Given the description of an element on the screen output the (x, y) to click on. 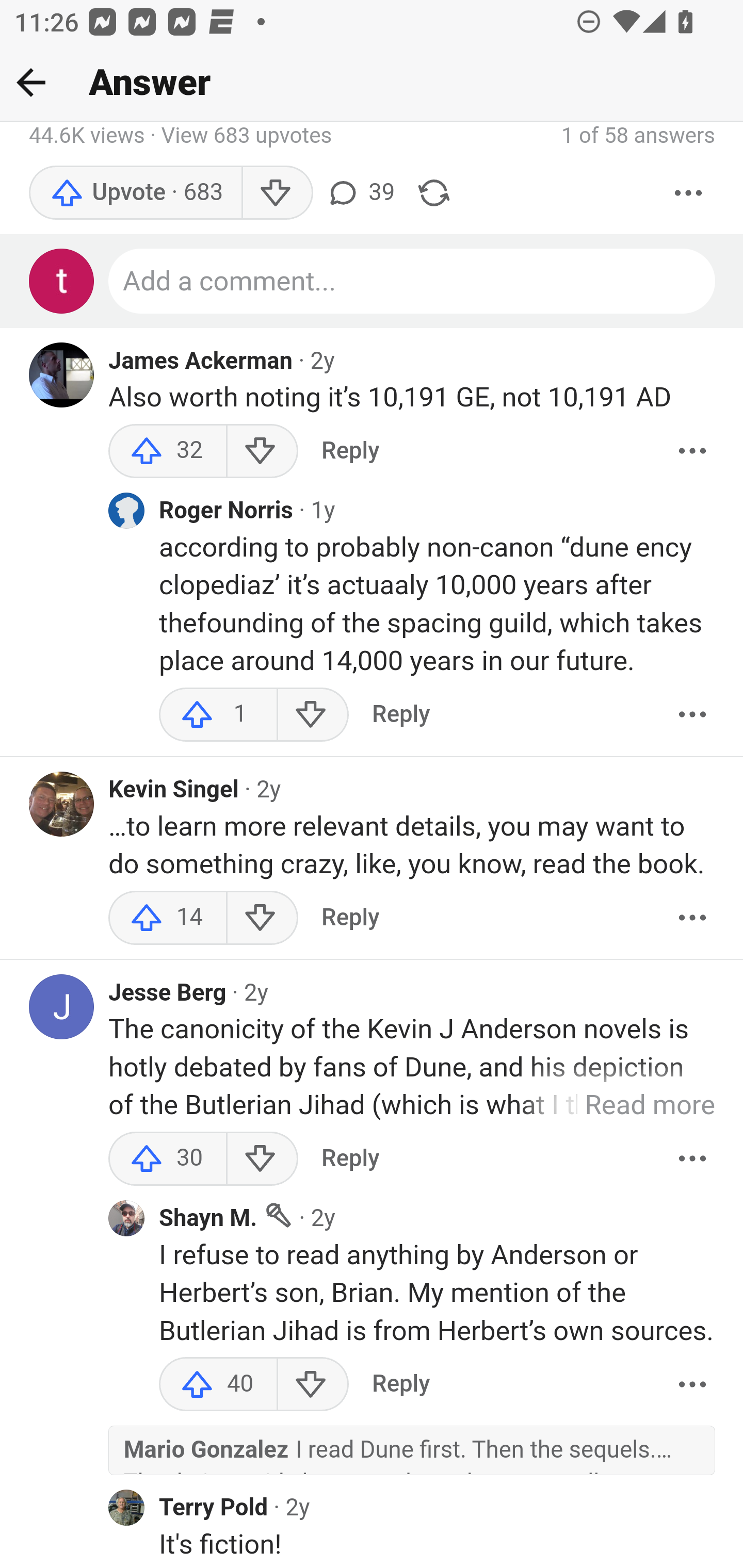
Back (30, 82)
View 683 upvotes (246, 137)
1 of 58 answers (637, 135)
Upvote (135, 192)
Downvote (277, 192)
39 comments (360, 192)
Share (434, 192)
More (688, 192)
Profile photo for Test Appium (61, 281)
Add a comment... (412, 281)
Profile photo for James Ackerman (61, 375)
James Ackerman (201, 361)
32 upvotes (167, 451)
Downvote (261, 451)
Reply (350, 451)
More (691, 451)
Profile photo for Roger Norris (126, 509)
Roger Norris (226, 511)
1 upvote (218, 714)
Downvote (312, 714)
Reply (400, 714)
More (691, 714)
Profile photo for Kevin Singel (61, 803)
Kevin Singel (173, 790)
14 upvotes (167, 917)
Downvote (261, 917)
Reply (350, 917)
More (691, 917)
Profile photo for Jesse Berg (61, 1006)
Jesse Berg (167, 992)
30 upvotes (167, 1158)
Downvote (261, 1158)
Reply (350, 1158)
More (691, 1158)
Profile photo for Shayn M. (126, 1218)
Shayn M. (208, 1219)
40 upvotes (218, 1384)
Downvote (312, 1384)
Reply (400, 1384)
More (691, 1384)
Profile photo for Terry Pold (126, 1506)
Terry Pold (213, 1507)
